Given the description of an element on the screen output the (x, y) to click on. 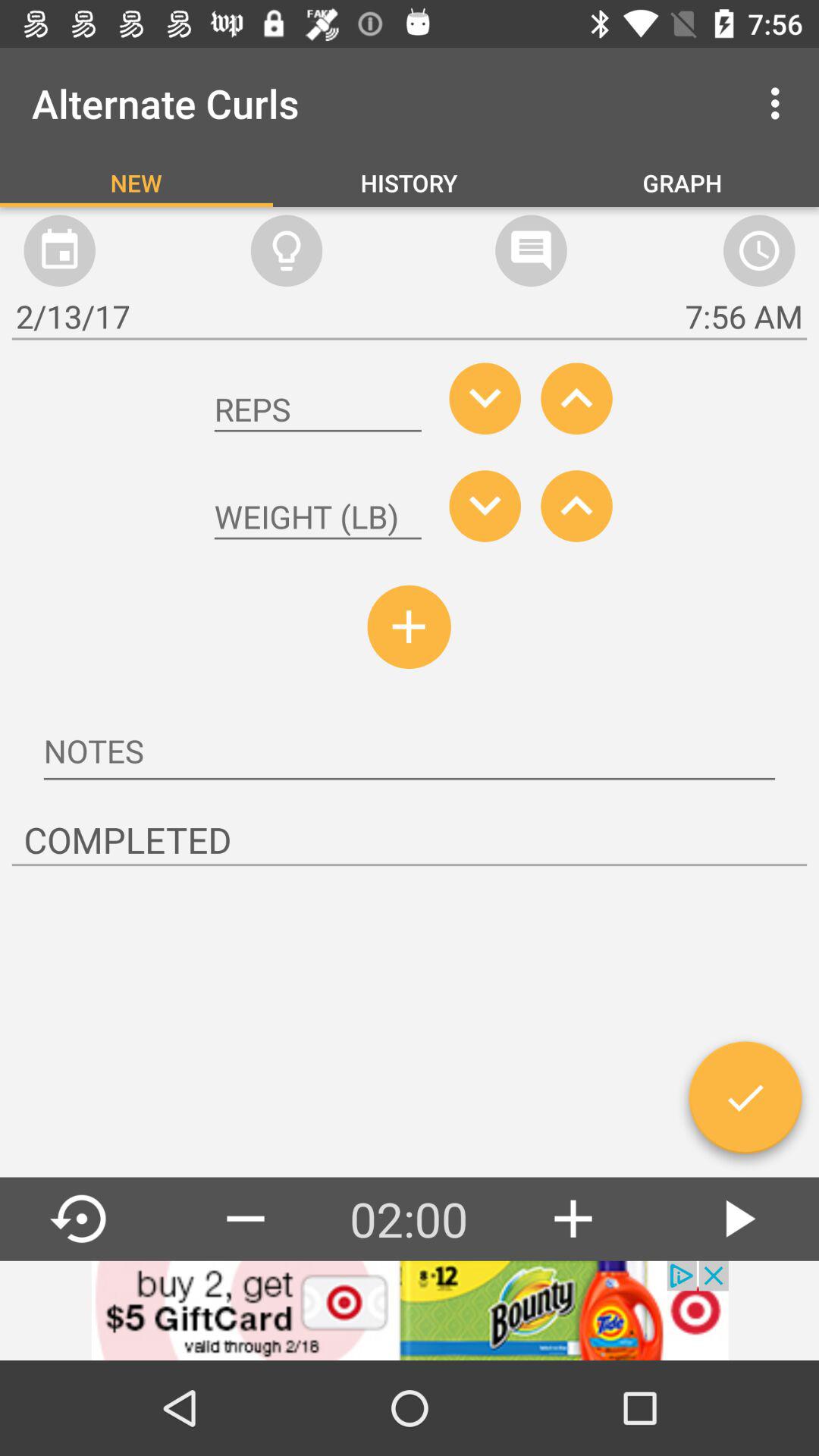
placeholder to update weight (317, 517)
